Given the description of an element on the screen output the (x, y) to click on. 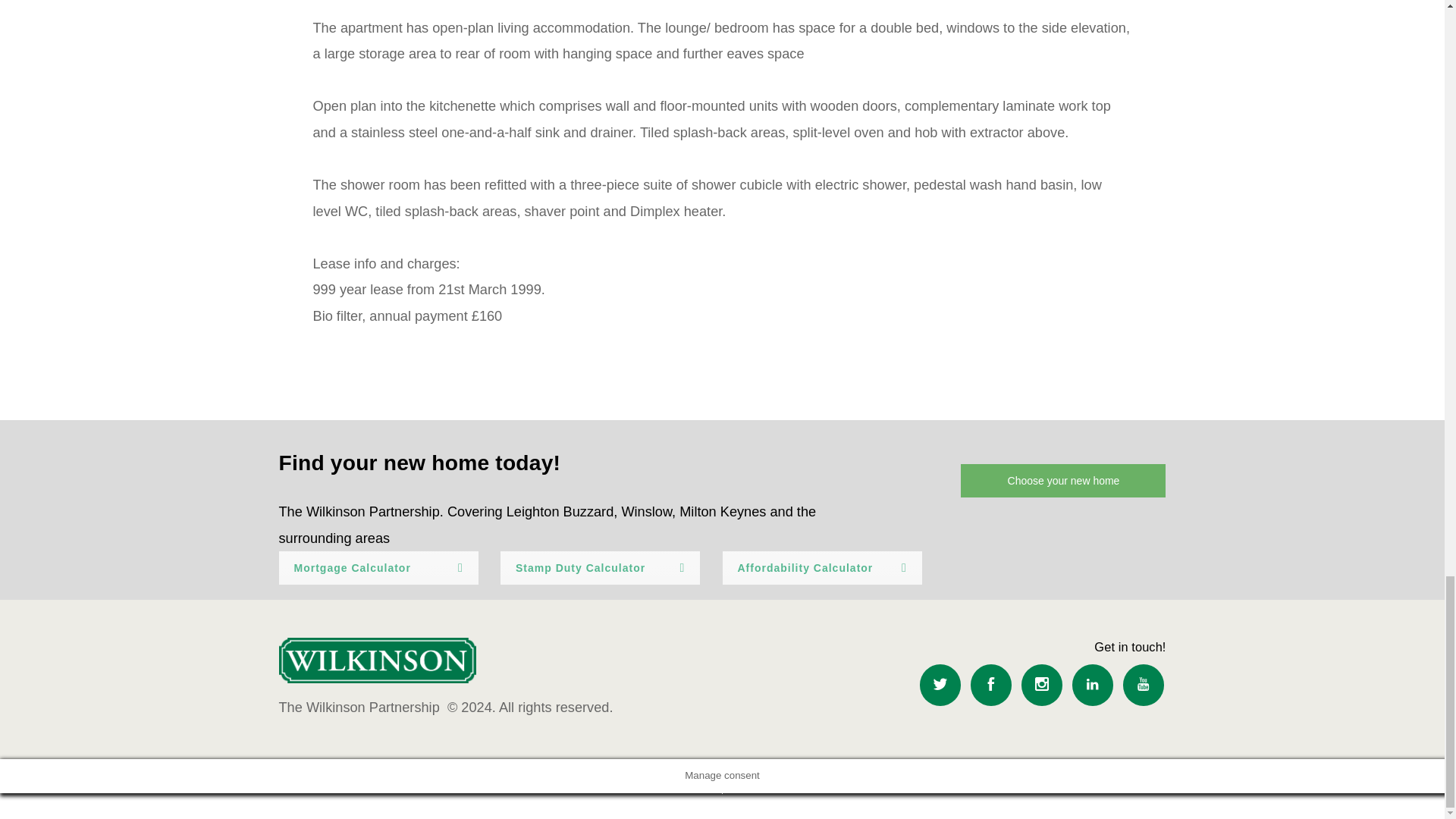
Choose your new home (1063, 480)
